Given the description of an element on the screen output the (x, y) to click on. 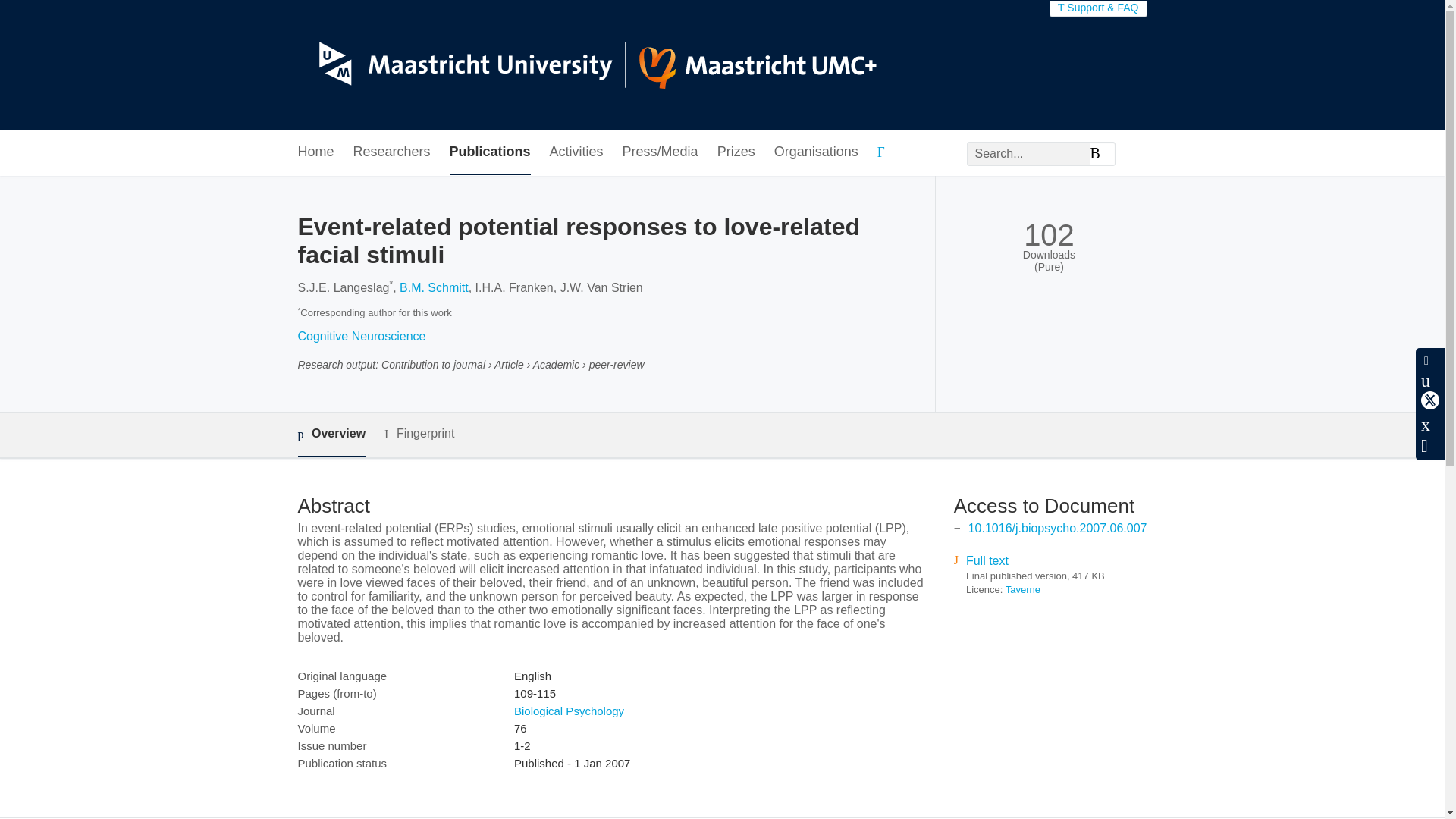
B.M. Schmitt (433, 287)
Maastricht University Home (586, 64)
Taverne (1023, 589)
Activities (577, 152)
Organisations (816, 152)
Full text (987, 560)
Overview (331, 434)
Fingerprint (419, 433)
Biological Psychology (568, 710)
